Given the description of an element on the screen output the (x, y) to click on. 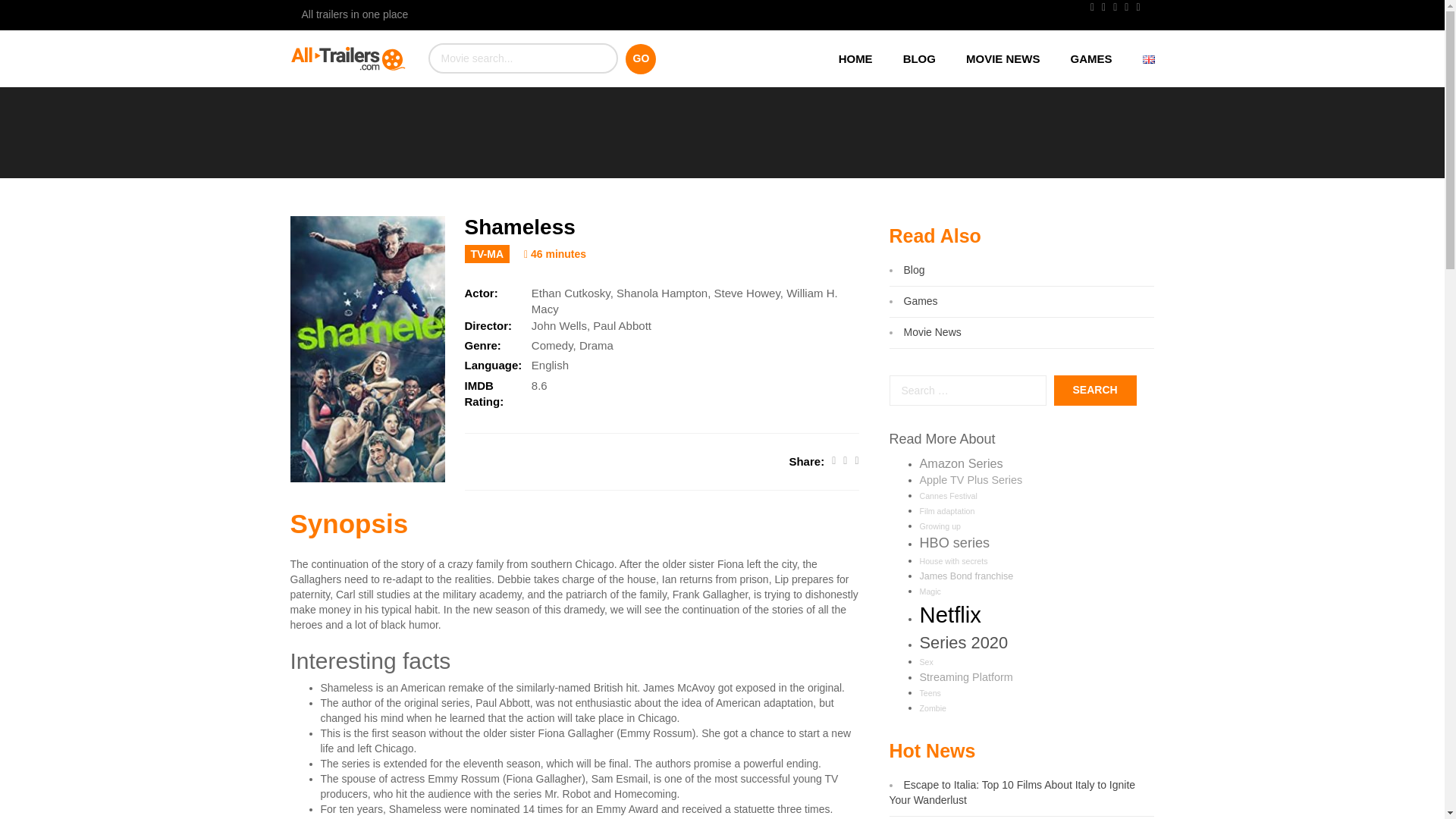
Search (1095, 390)
13 topics (970, 480)
Ethan Cutkosky (570, 292)
Go (641, 59)
John Wells (558, 325)
6 topics (965, 575)
1 topics (952, 560)
Steve Howey (747, 292)
5 topics (946, 510)
2 topics (947, 495)
5 topics (929, 591)
18 topics (960, 463)
Search (1095, 390)
4 topics (929, 692)
49 topics (948, 614)
